Given the description of an element on the screen output the (x, y) to click on. 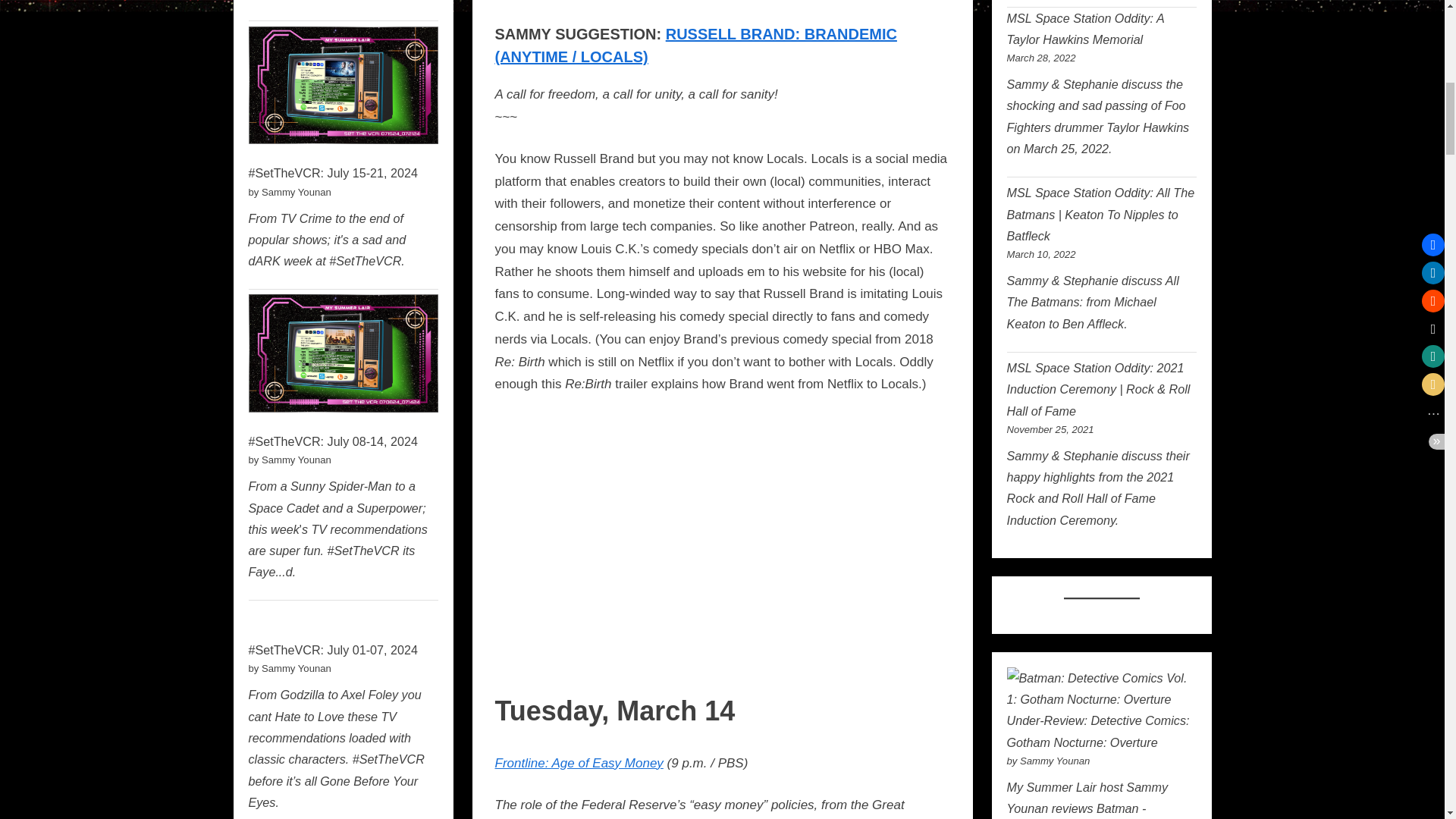
Frontline: Age of Easy Money (578, 762)
